Given the description of an element on the screen output the (x, y) to click on. 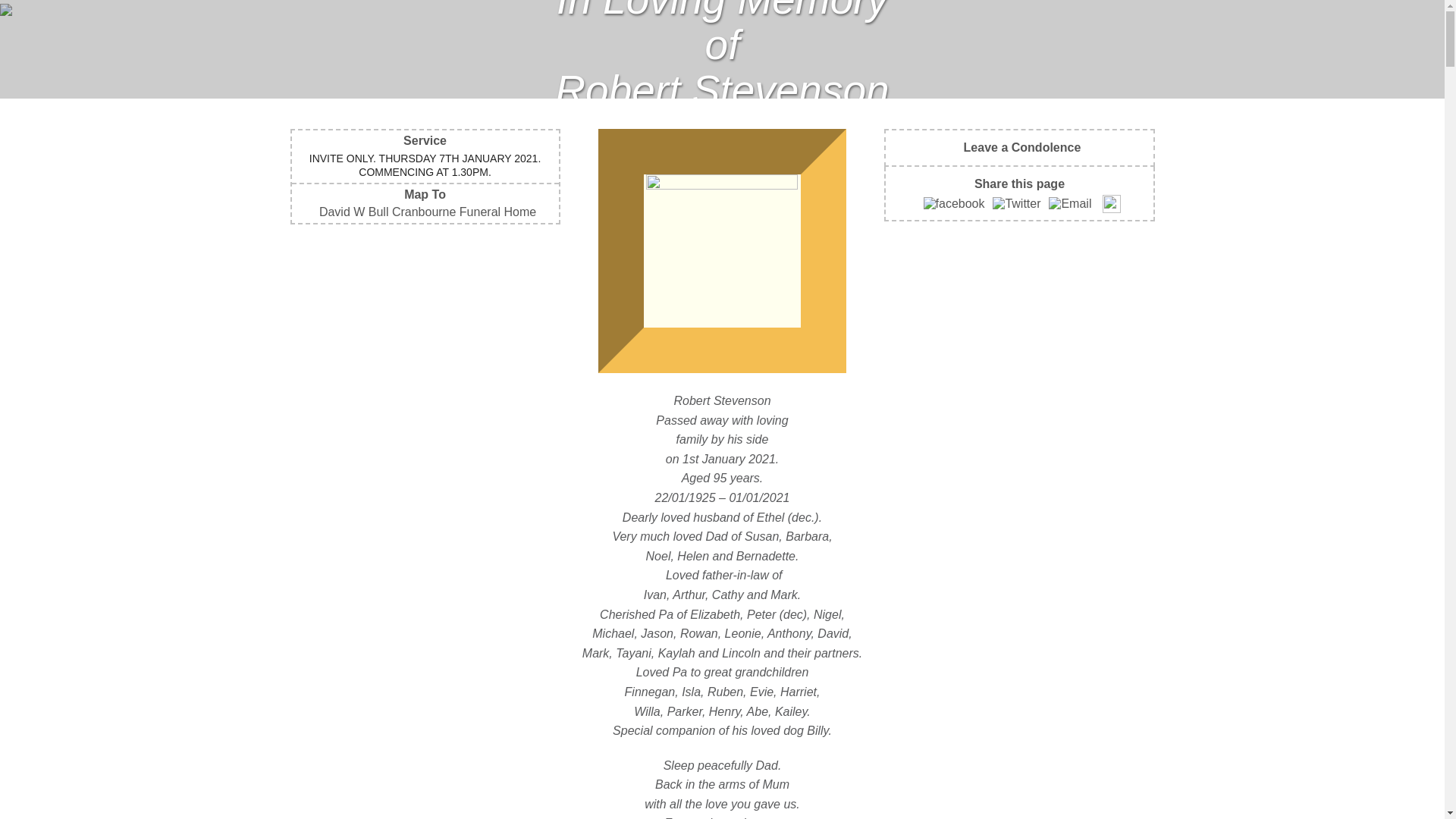
David W Bull Cranbourne Funeral Home Element type: text (424, 211)
Leave a Condolence Element type: text (1019, 147)
